Given the description of an element on the screen output the (x, y) to click on. 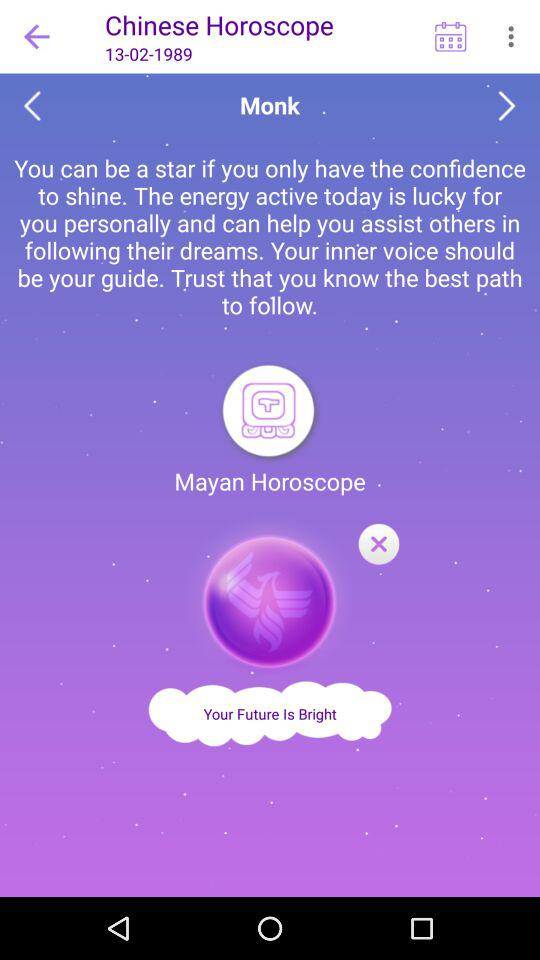
closs button (378, 545)
